Given the description of an element on the screen output the (x, y) to click on. 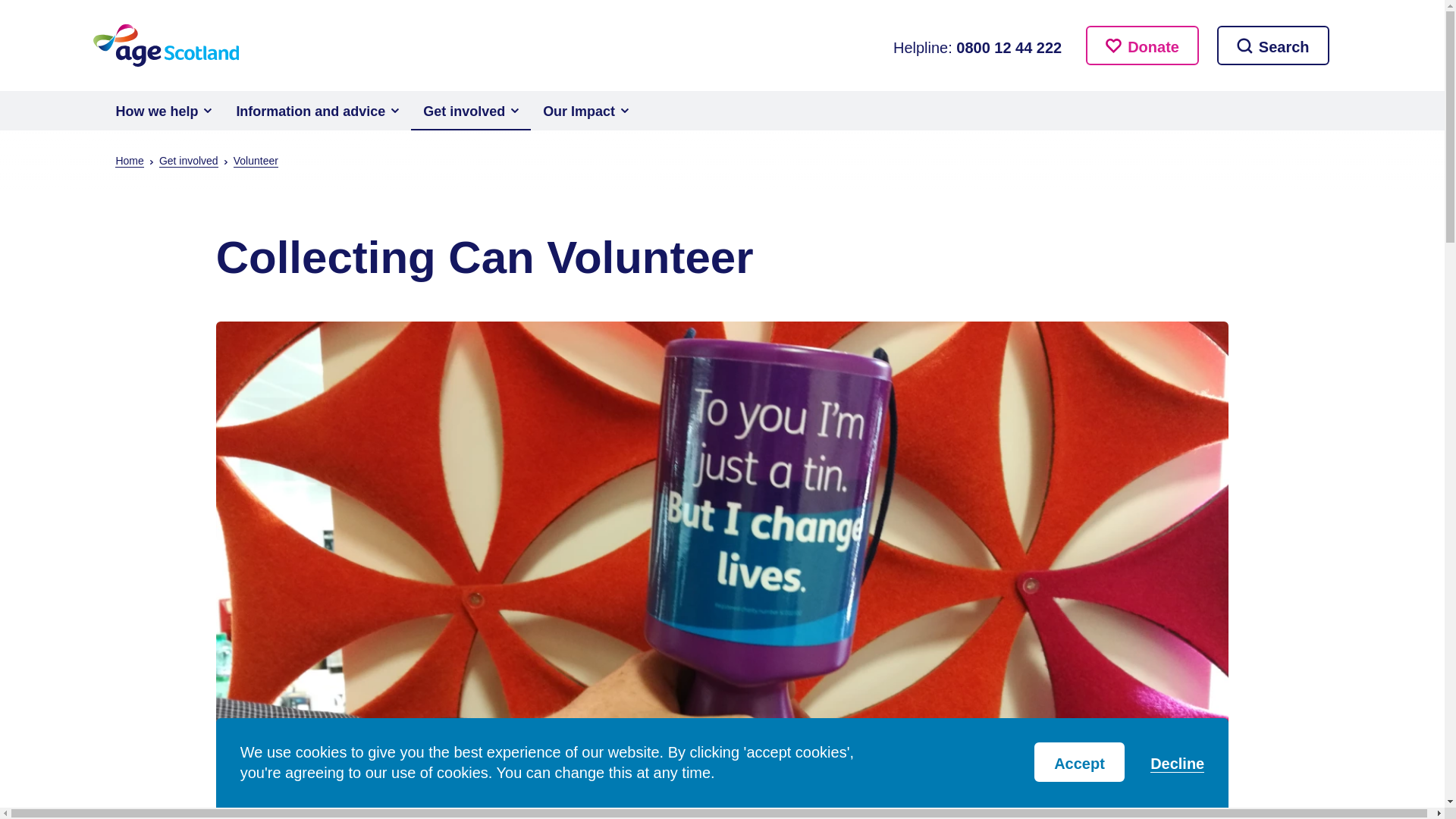
How we help (163, 110)
Helpline: 0800 12 44 222 (977, 45)
Donate (1142, 45)
Information and advice (317, 110)
Our Impact (585, 110)
Get involved (470, 110)
Search (1273, 45)
